Given the description of an element on the screen output the (x, y) to click on. 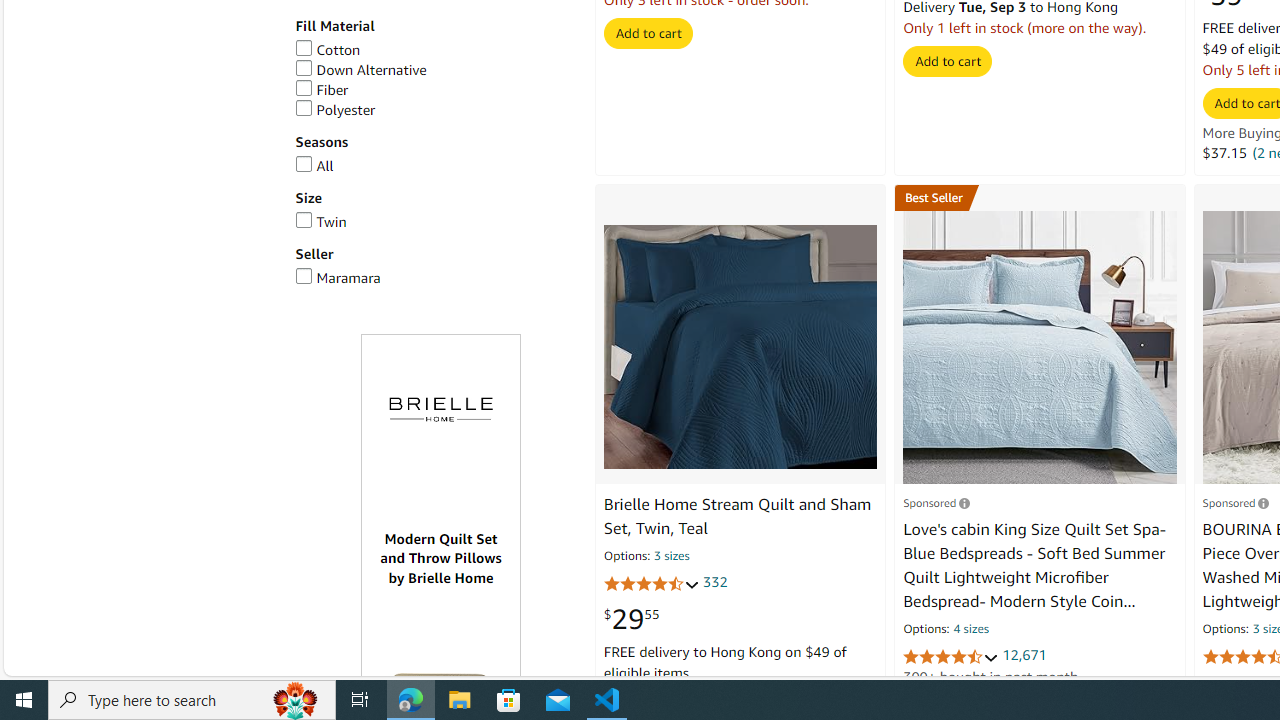
4.3 out of 5 stars (651, 583)
Logo (441, 409)
332 (715, 581)
All (314, 165)
Cotton (434, 50)
All (434, 165)
Twin (320, 221)
Fiber (434, 90)
12,671 (1024, 655)
Fiber (321, 89)
Cotton (327, 49)
Brielle Home Stream Quilt and Sham Set, Twin, Teal (736, 516)
$29.55 (631, 619)
Down Alternative (434, 70)
